Given the description of an element on the screen output the (x, y) to click on. 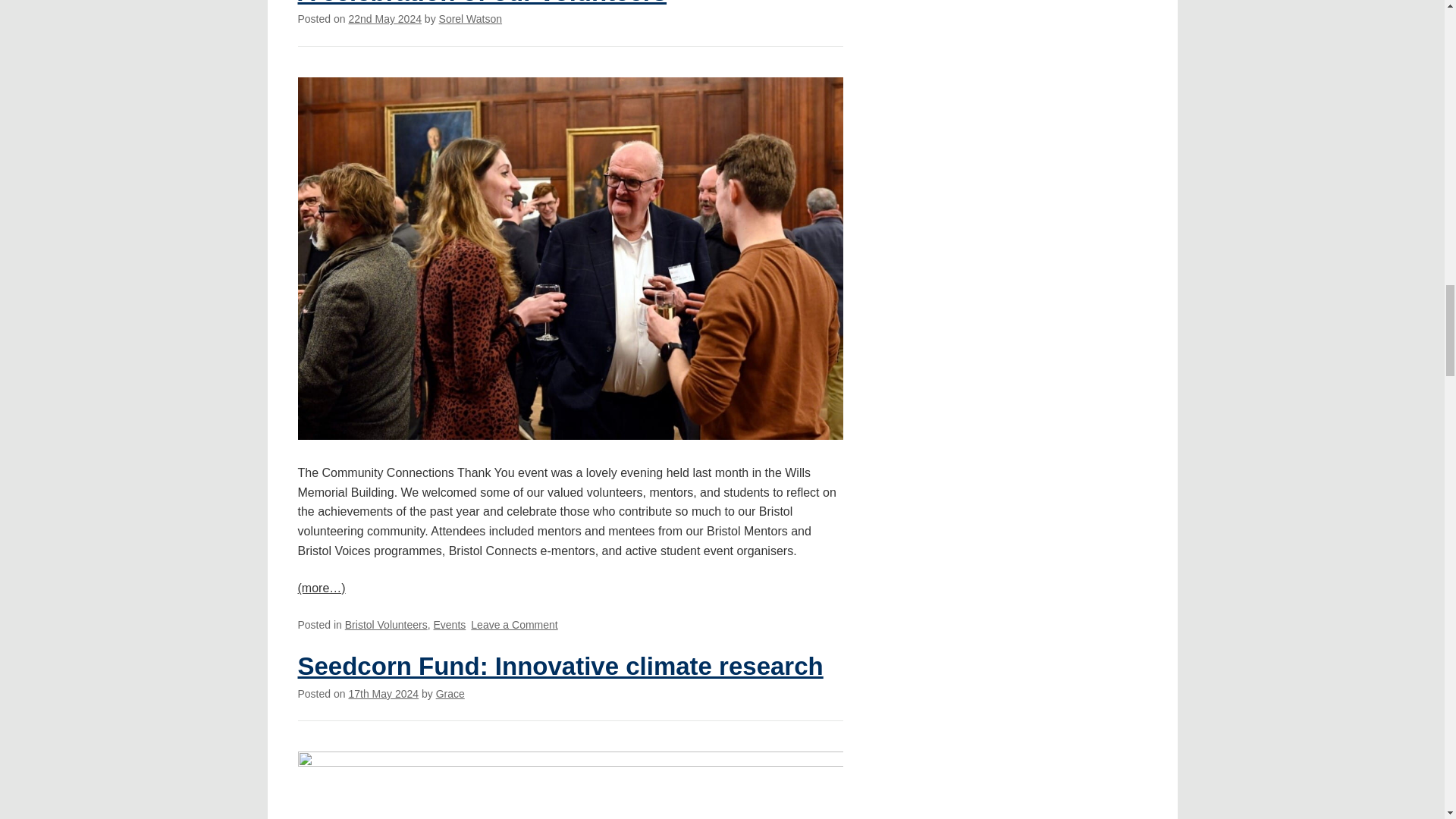
Seedcorn Fund: Innovative climate research (559, 665)
A celebration of our volunteers (481, 2)
Sorel Watson (470, 19)
Bristol Volunteers (386, 624)
Events (449, 624)
22nd May 2024 (513, 624)
17th May 2024 (384, 19)
